Given the description of an element on the screen output the (x, y) to click on. 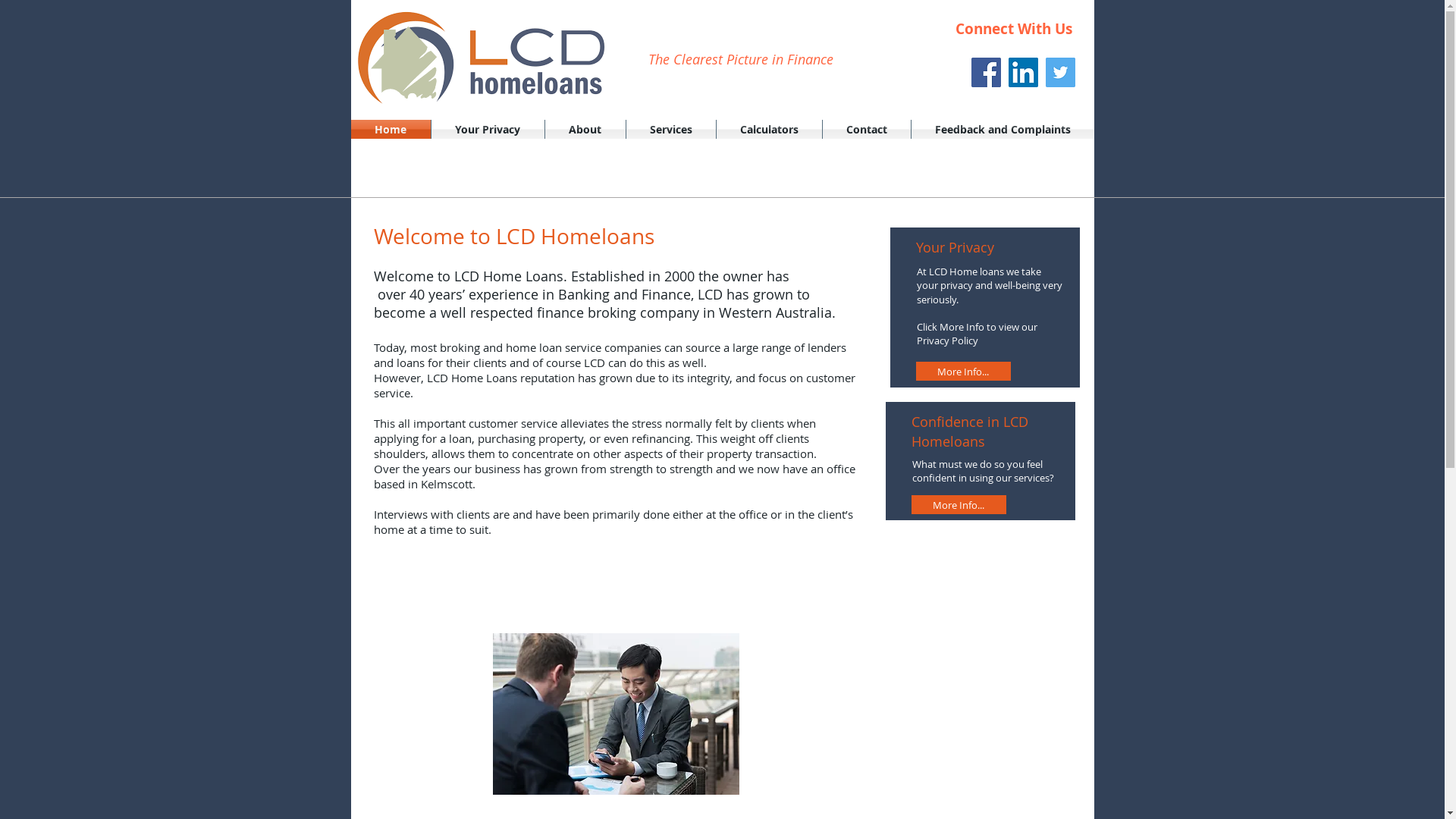
Services Element type: text (670, 128)
Feedback and Complaints Element type: text (1002, 128)
Outdoor Business Meeting Element type: hover (615, 713)
More Info... Element type: text (958, 504)
More Info... Element type: text (963, 370)
Contact Element type: text (866, 128)
Calculators Element type: text (768, 128)
Home Element type: text (389, 128)
About Element type: text (584, 128)
